Given the description of an element on the screen output the (x, y) to click on. 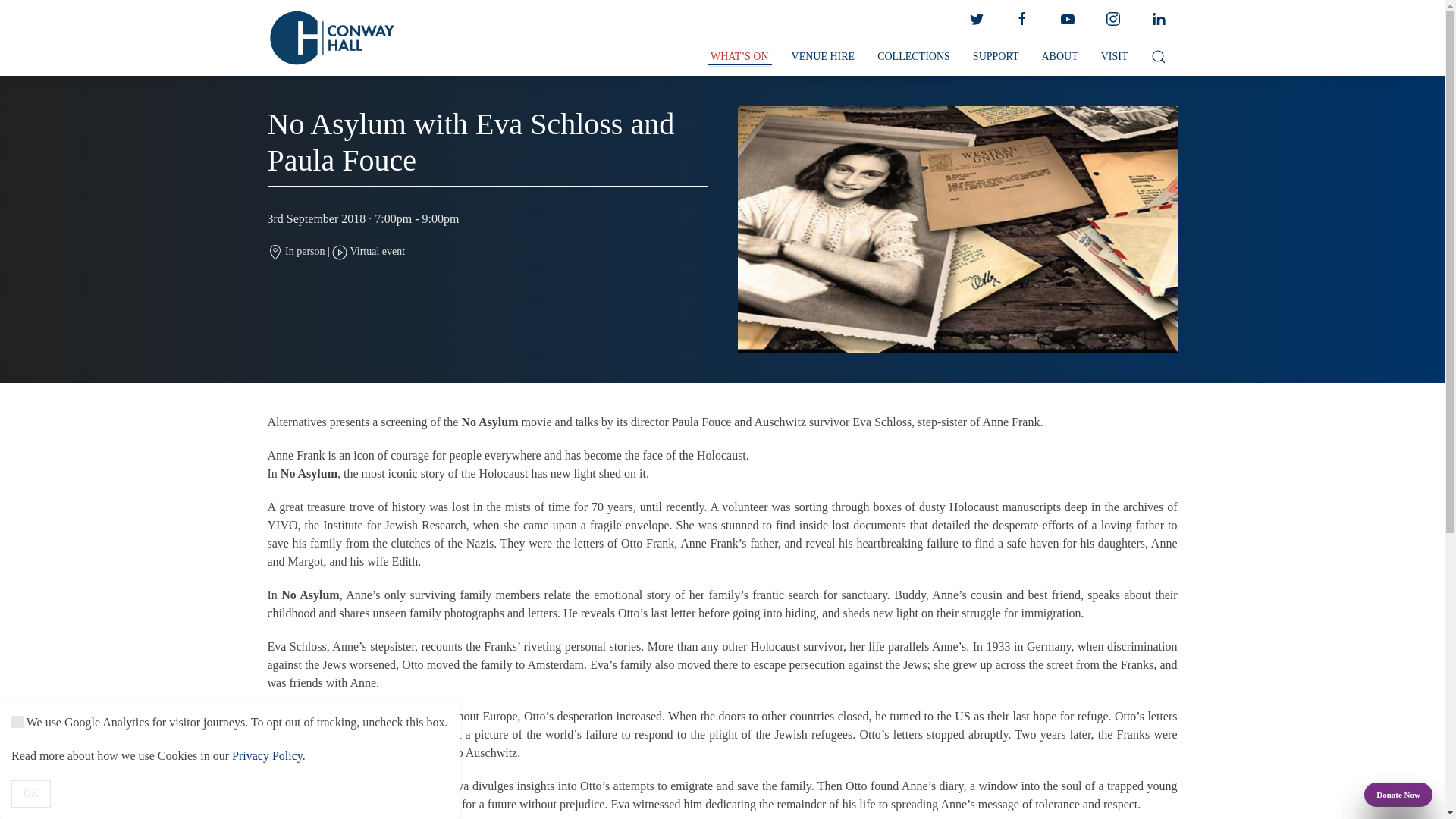
instagram (1112, 19)
VISIT (1114, 56)
Donate Now (1398, 794)
Privacy Policy (266, 755)
on (17, 721)
ABOUT (1059, 56)
YouTube (1067, 19)
Twitter (975, 19)
OK (30, 793)
SUPPORT (995, 56)
